Given the description of an element on the screen output the (x, y) to click on. 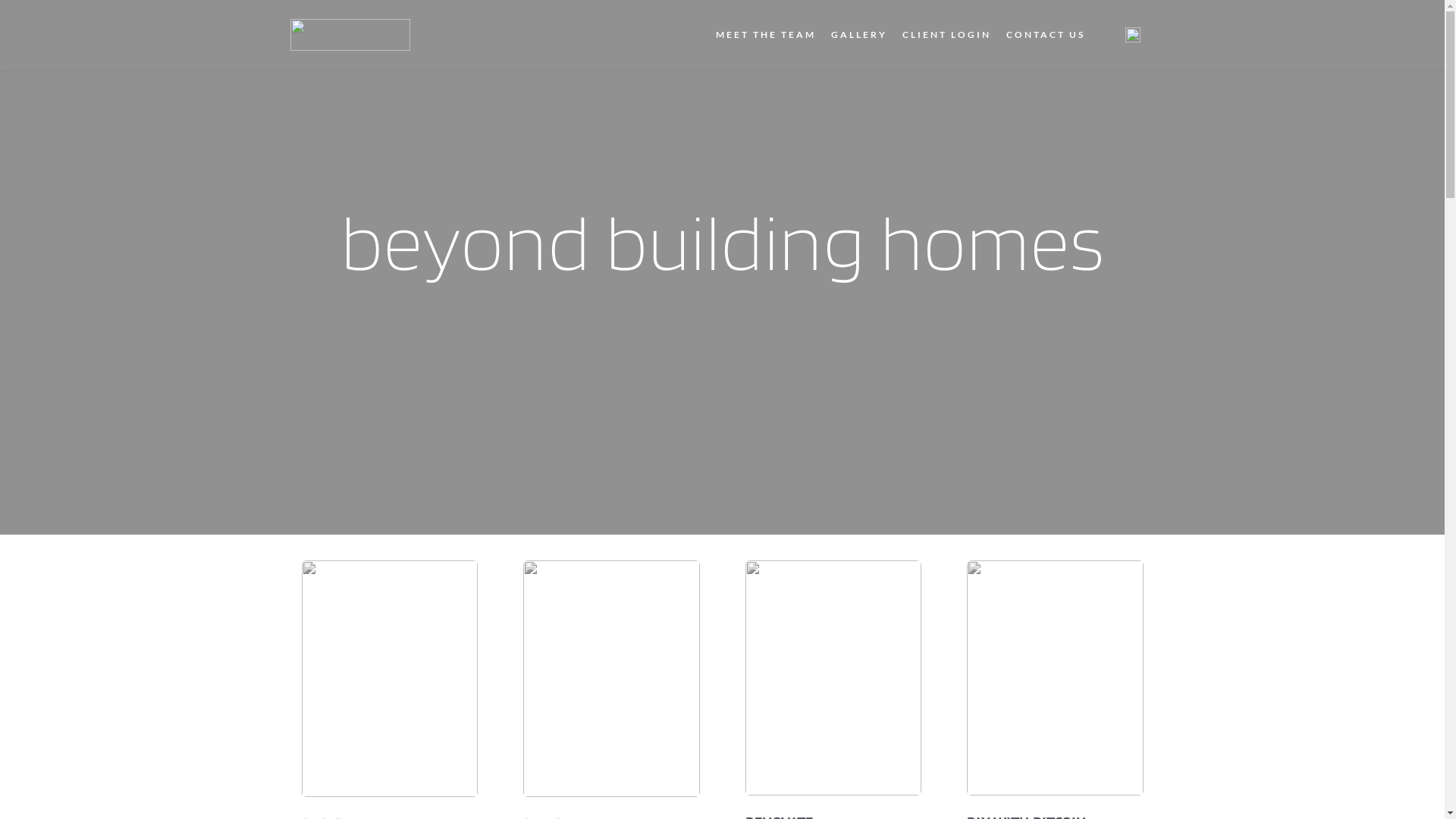
GALLERY Element type: text (859, 34)
CLIENT LOGIN Element type: text (946, 34)
CONTACT US Element type: text (1045, 34)
MEET THE TEAM Element type: text (765, 34)
